Given the description of an element on the screen output the (x, y) to click on. 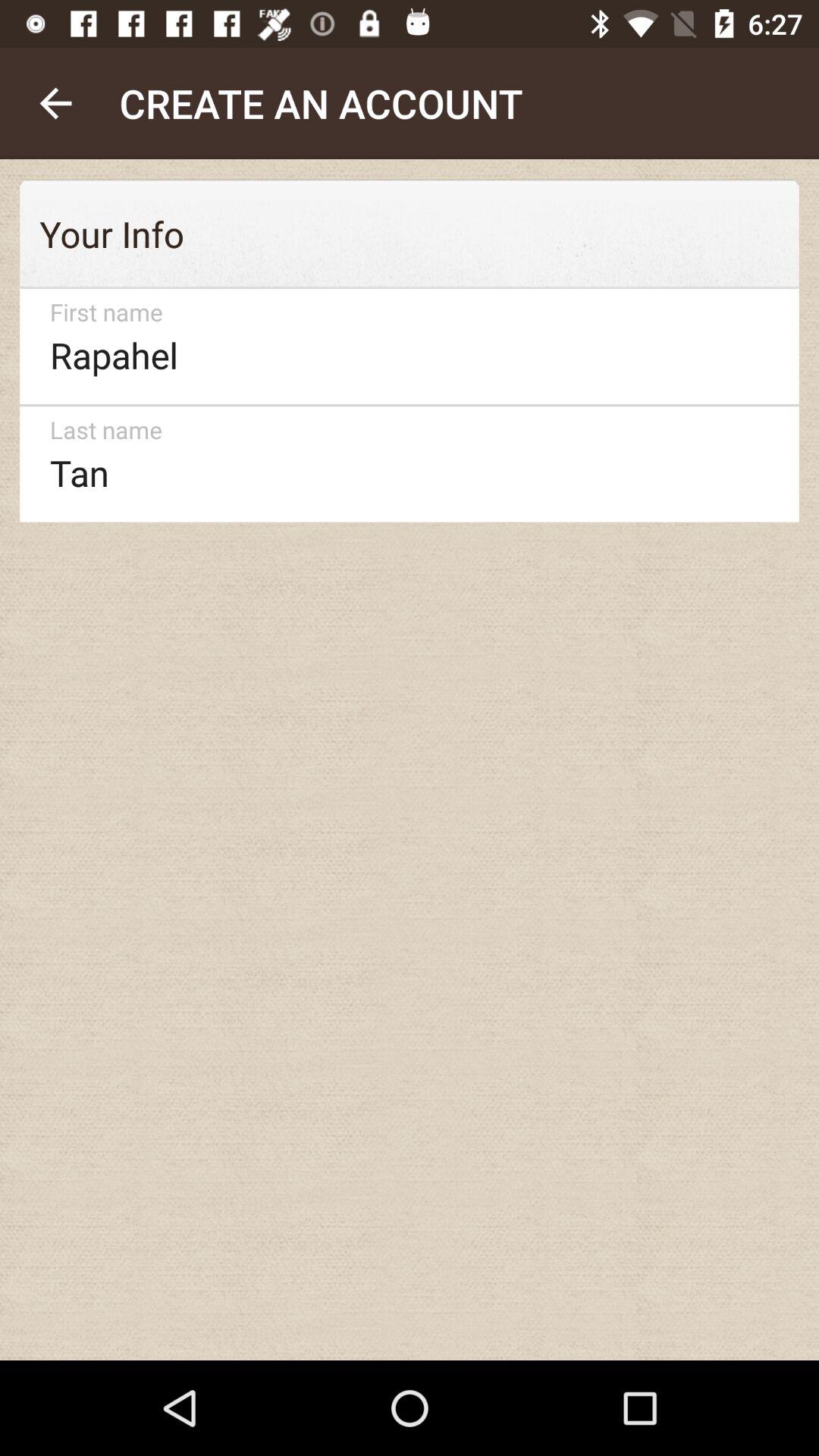
jump until tan icon (402, 464)
